Given the description of an element on the screen output the (x, y) to click on. 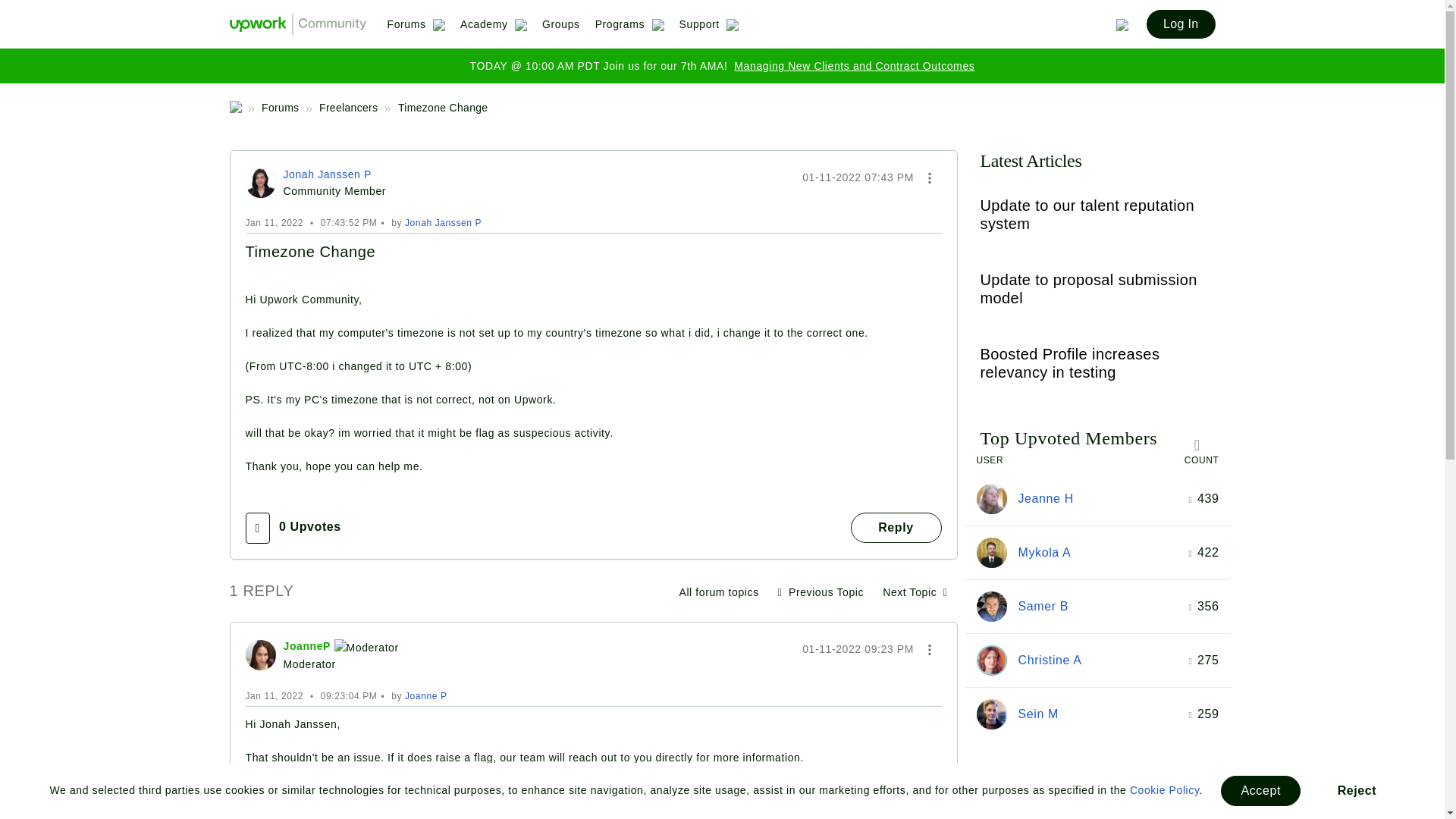
Posted on (858, 648)
Posted on (858, 176)
Forums (416, 29)
Accept (1260, 790)
jonahpamintuan (261, 182)
Freelancers (718, 592)
the-right-writer (991, 499)
JoanneP (261, 654)
Removing a Feedback from profile and JSS (914, 592)
Reject (1356, 790)
